Given the description of an element on the screen output the (x, y) to click on. 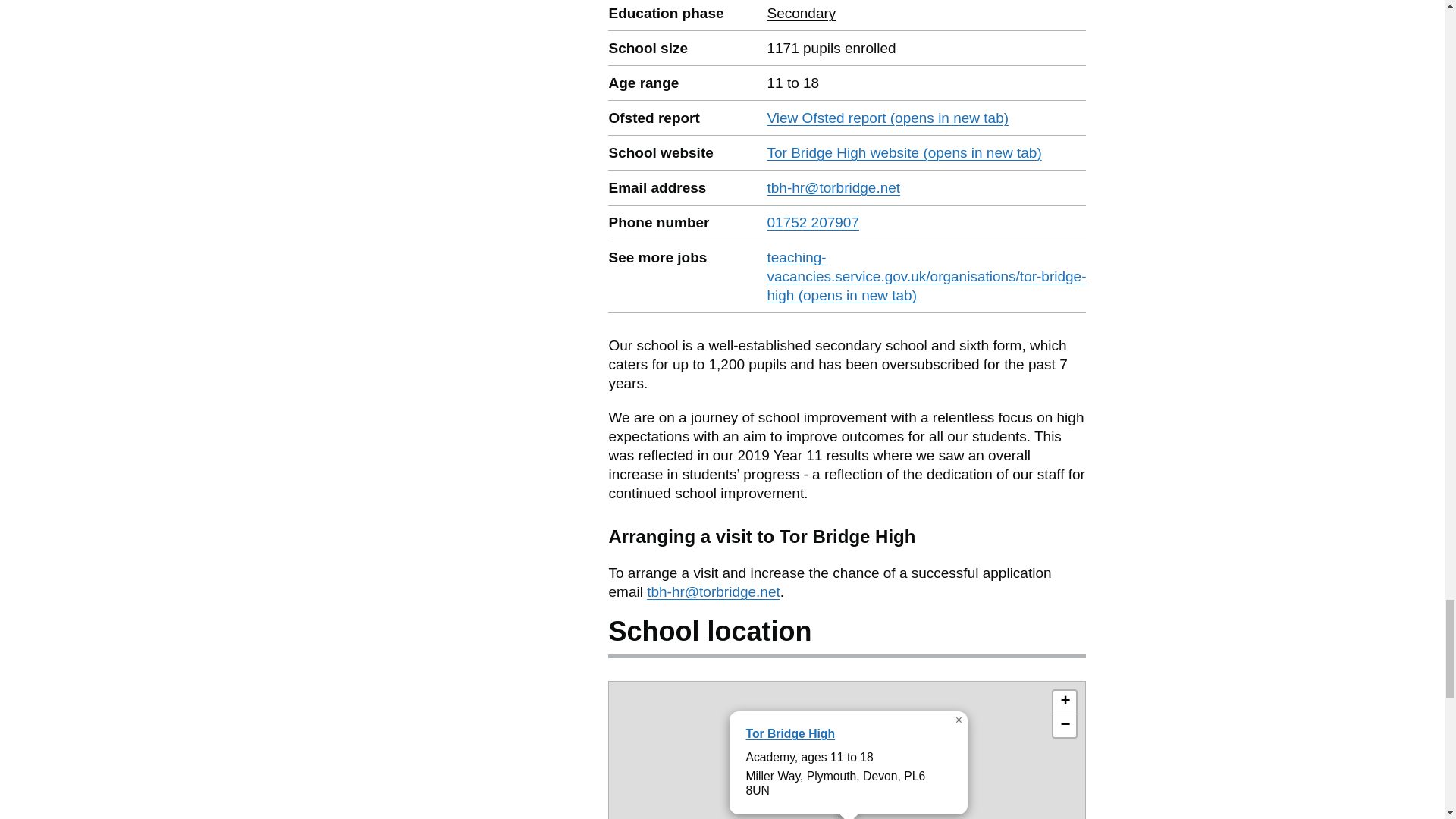
Tor Bridge High (789, 733)
Zoom in (1063, 702)
Zoom out (801, 12)
01752 207907 (1063, 725)
